Given the description of an element on the screen output the (x, y) to click on. 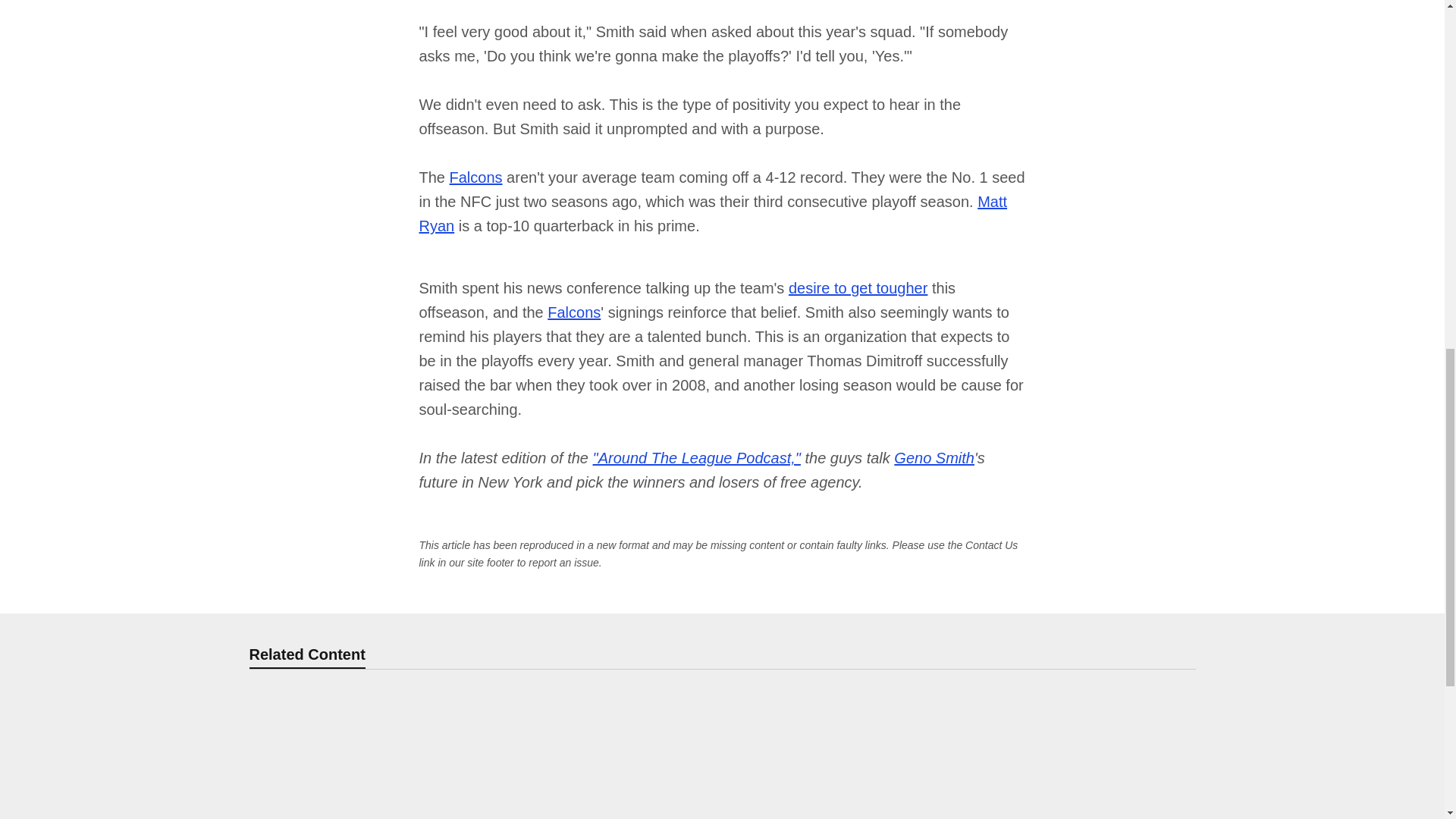
Falcons (475, 176)
"Around The League Podcast," (696, 457)
desire to get tougher (858, 288)
Falcons (573, 312)
Geno Smith (933, 457)
Matt Ryan (713, 213)
